Given the description of an element on the screen output the (x, y) to click on. 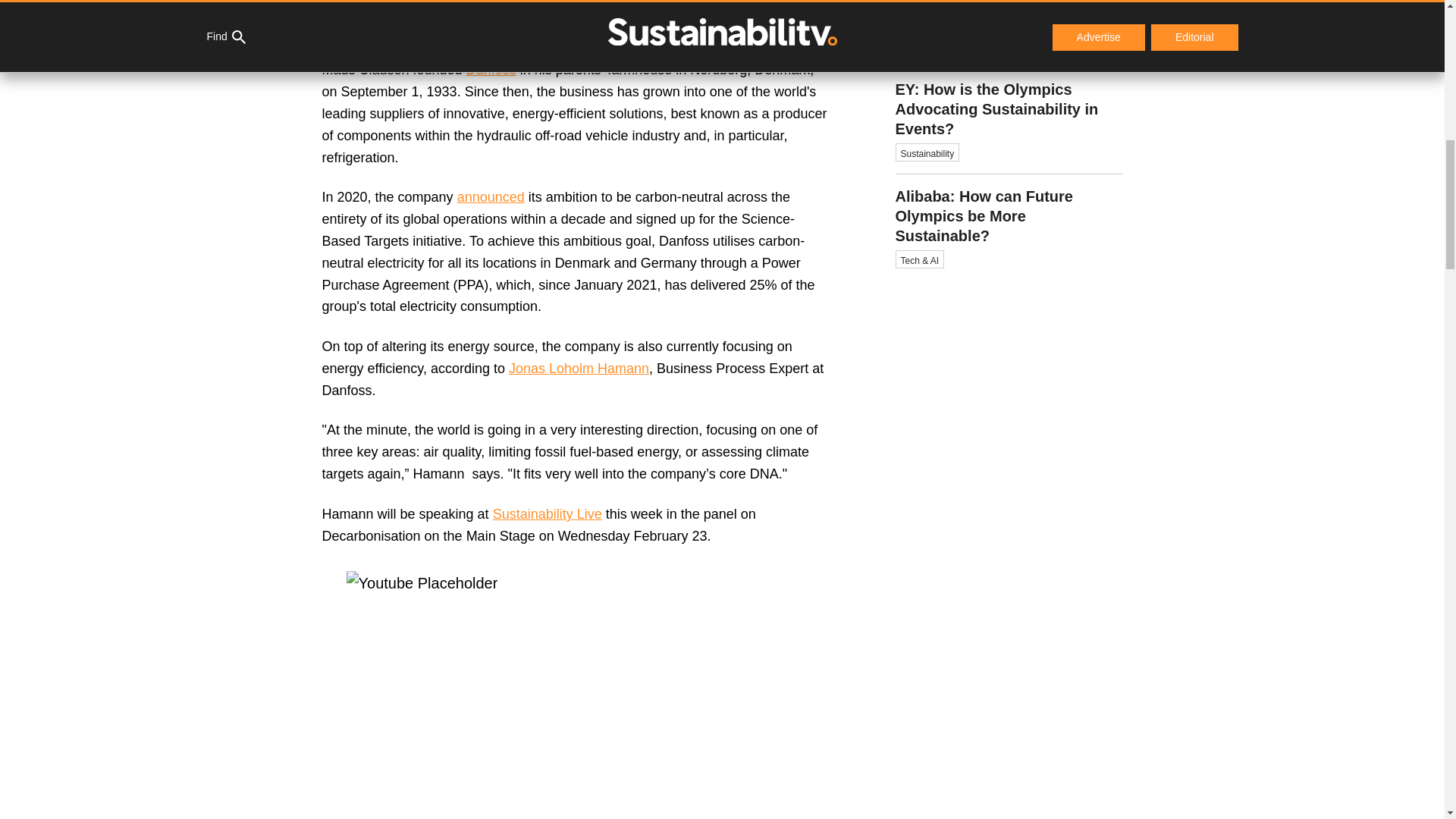
announced (1008, 33)
Danfoss (490, 196)
Jonas Loholm Hamann (490, 69)
Sustainability Live (578, 368)
